Given the description of an element on the screen output the (x, y) to click on. 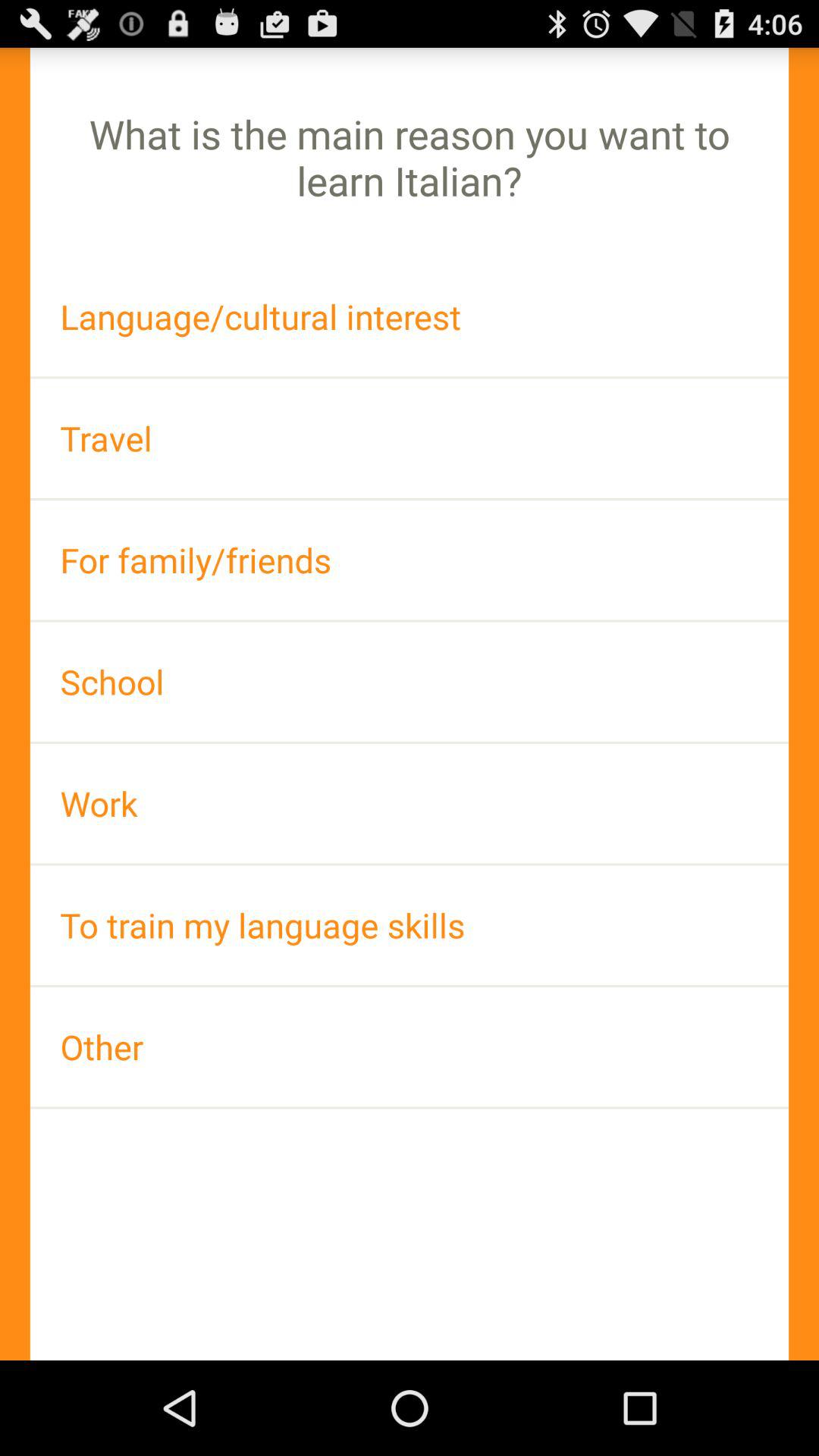
turn off the app above for family/friends app (409, 438)
